Given the description of an element on the screen output the (x, y) to click on. 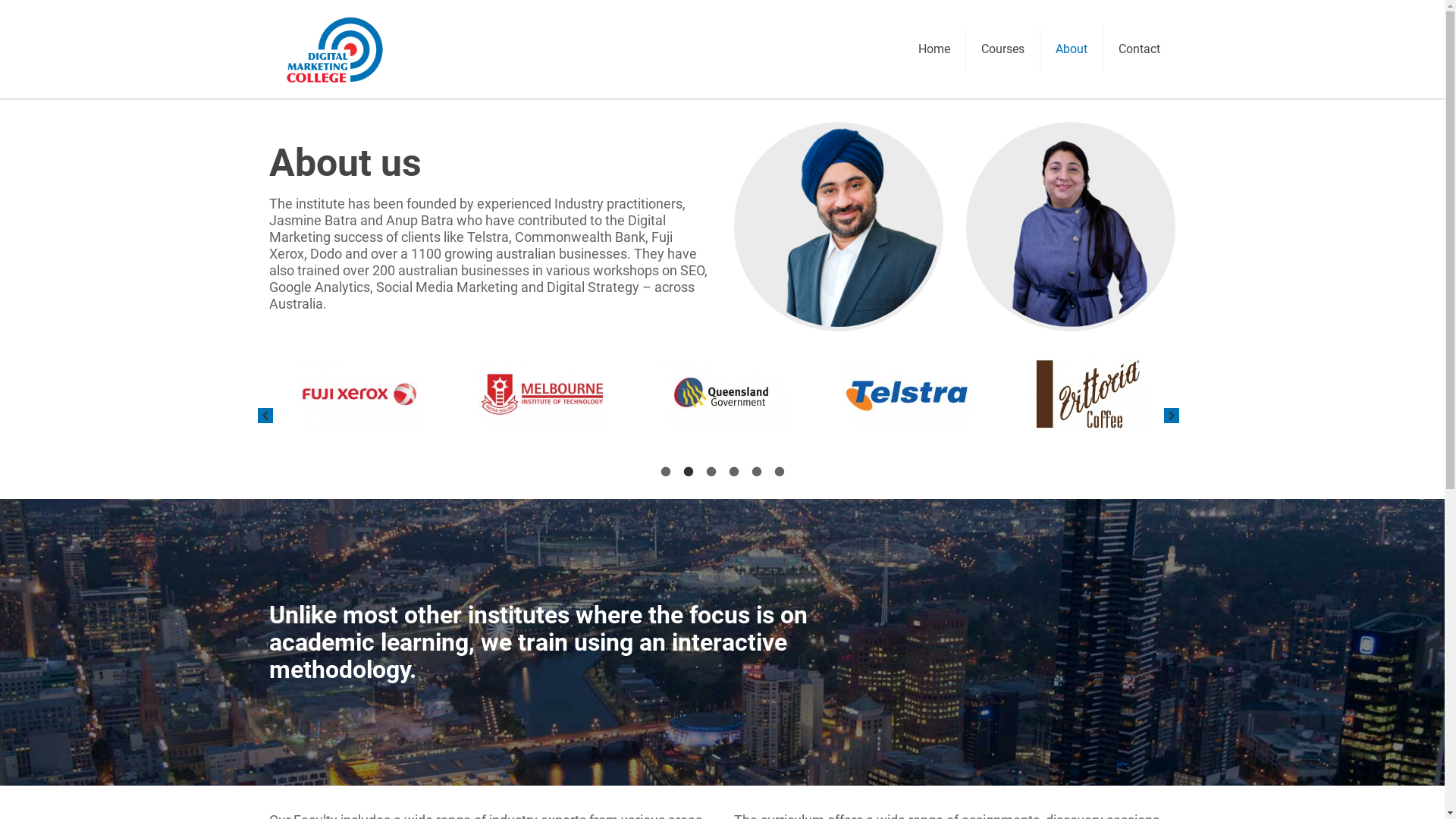
Home Element type: text (934, 49)
Contact Element type: text (1139, 49)
Digital Marketing College Element type: hover (334, 49)
Courses Element type: text (1003, 49)
About Element type: text (1071, 49)
